Given the description of an element on the screen output the (x, y) to click on. 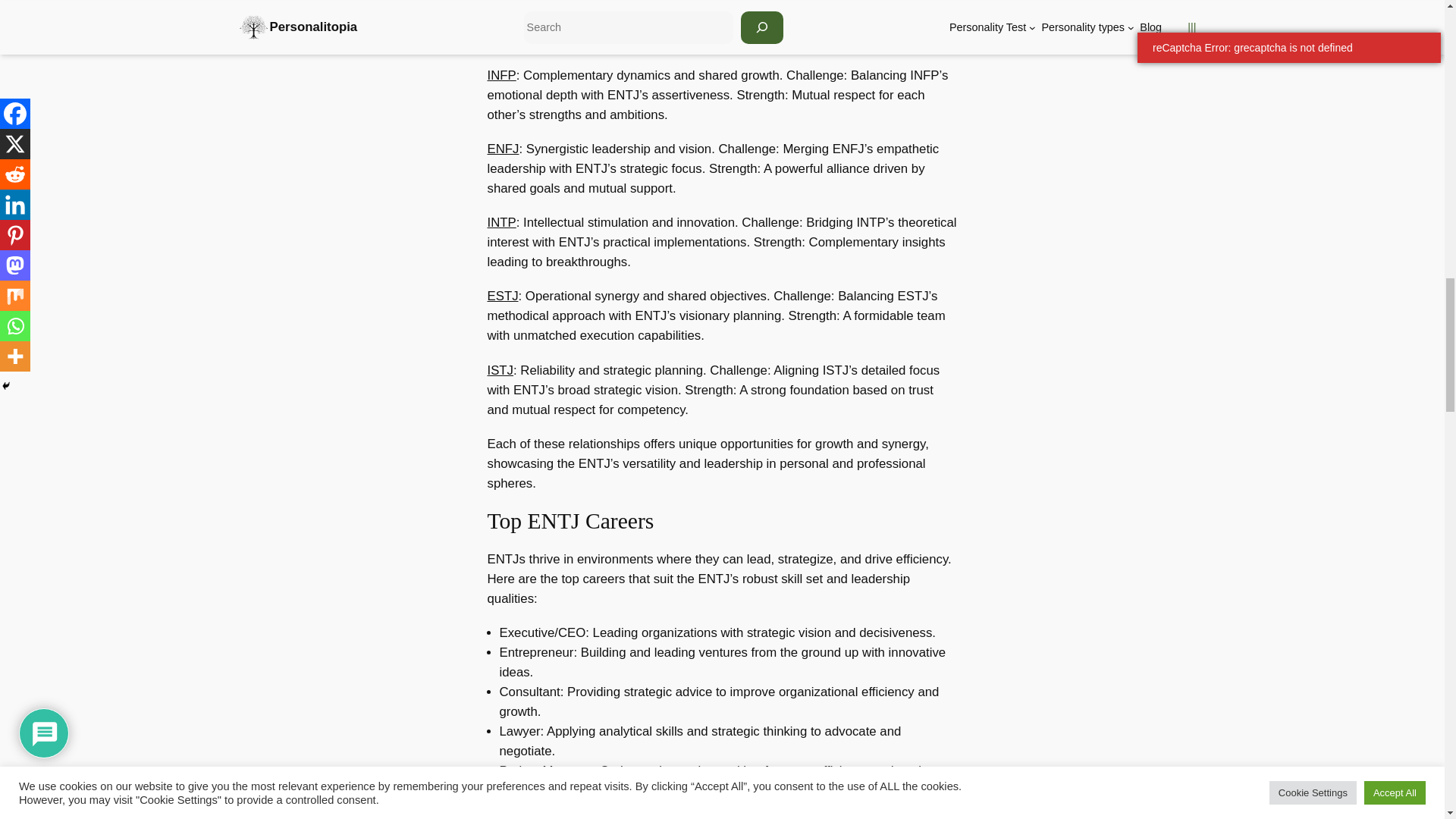
INFP (500, 74)
